Given the description of an element on the screen output the (x, y) to click on. 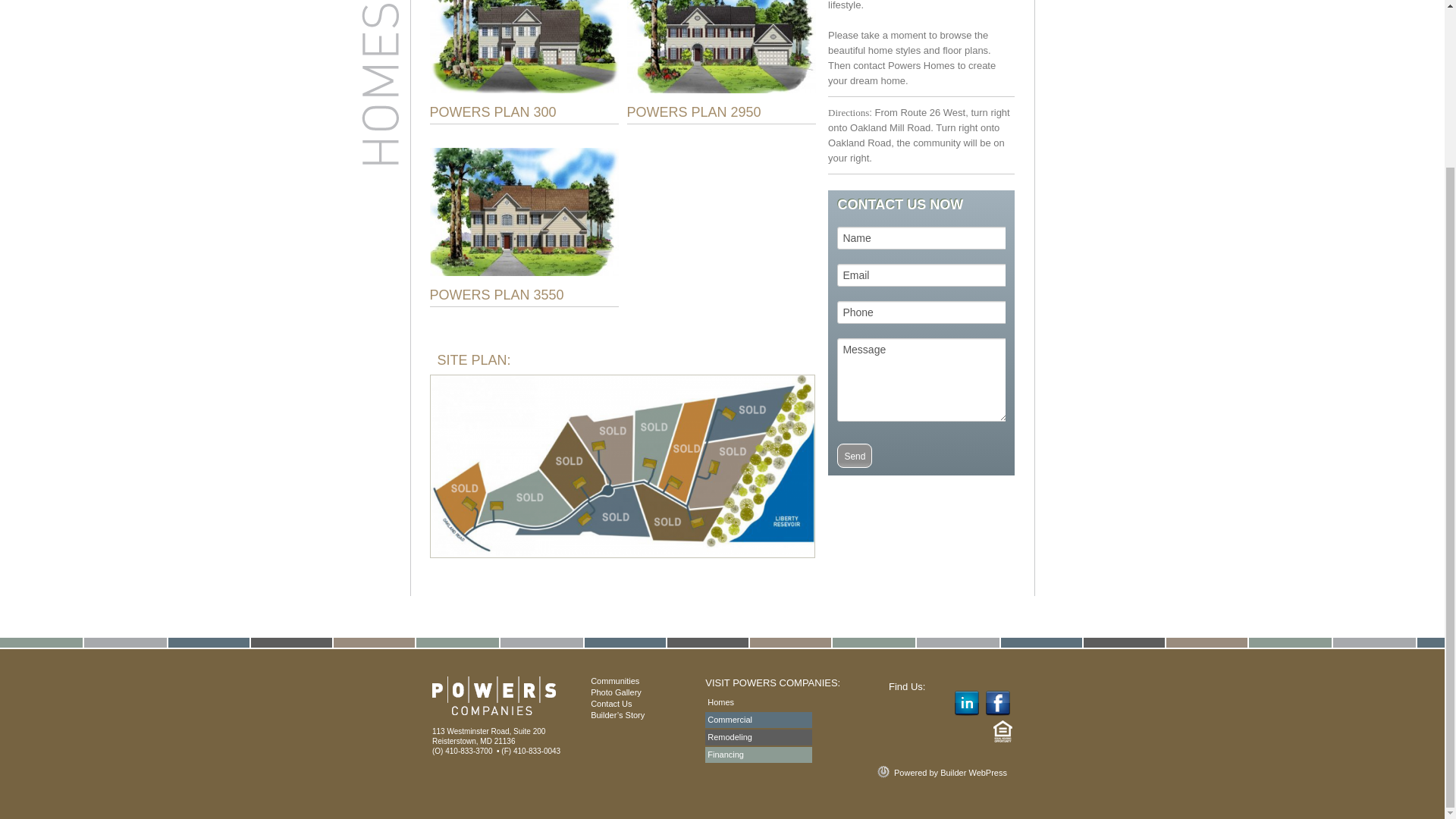
Contact Us (611, 703)
Communities (615, 680)
Powers Plan 300 (523, 46)
Remodeling (758, 737)
Phone (922, 312)
POWERS PLAN 2950 (693, 111)
Homes (758, 702)
POWERS PLAN 300 (492, 111)
Financing (758, 754)
Send (854, 455)
